Given the description of an element on the screen output the (x, y) to click on. 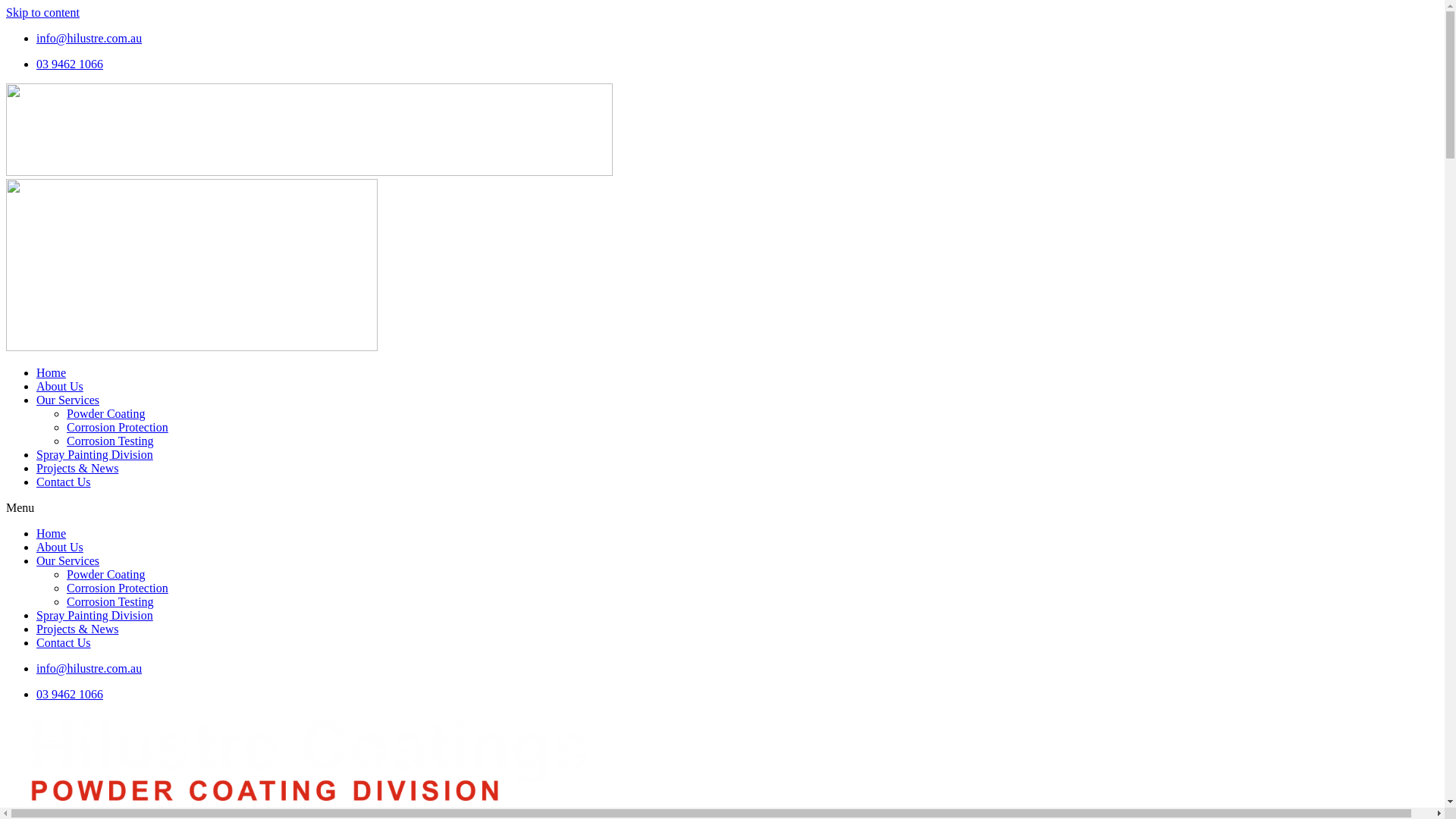
Projects & News Element type: text (77, 628)
info@hilustre.com.au Element type: text (88, 37)
Powder Coating Element type: text (105, 573)
Contact Us Element type: text (63, 642)
Contact Us Element type: text (63, 481)
03 9462 1066 Element type: text (69, 63)
Our Services Element type: text (67, 399)
Projects & News Element type: text (77, 467)
Our Services Element type: text (67, 560)
info@hilustre.com.au Element type: text (88, 668)
Corrosion Testing Element type: text (109, 601)
Spray Painting Division Element type: text (94, 454)
03 9462 1066 Element type: text (69, 693)
Corrosion Protection Element type: text (117, 426)
About Us Element type: text (59, 385)
Home Element type: text (50, 533)
Spray Painting Division Element type: text (94, 614)
Corrosion Protection Element type: text (117, 587)
Home Element type: text (50, 372)
Corrosion Testing Element type: text (109, 440)
About Us Element type: text (59, 546)
Powder Coating Element type: text (105, 413)
Skip to content Element type: text (42, 12)
